Given the description of an element on the screen output the (x, y) to click on. 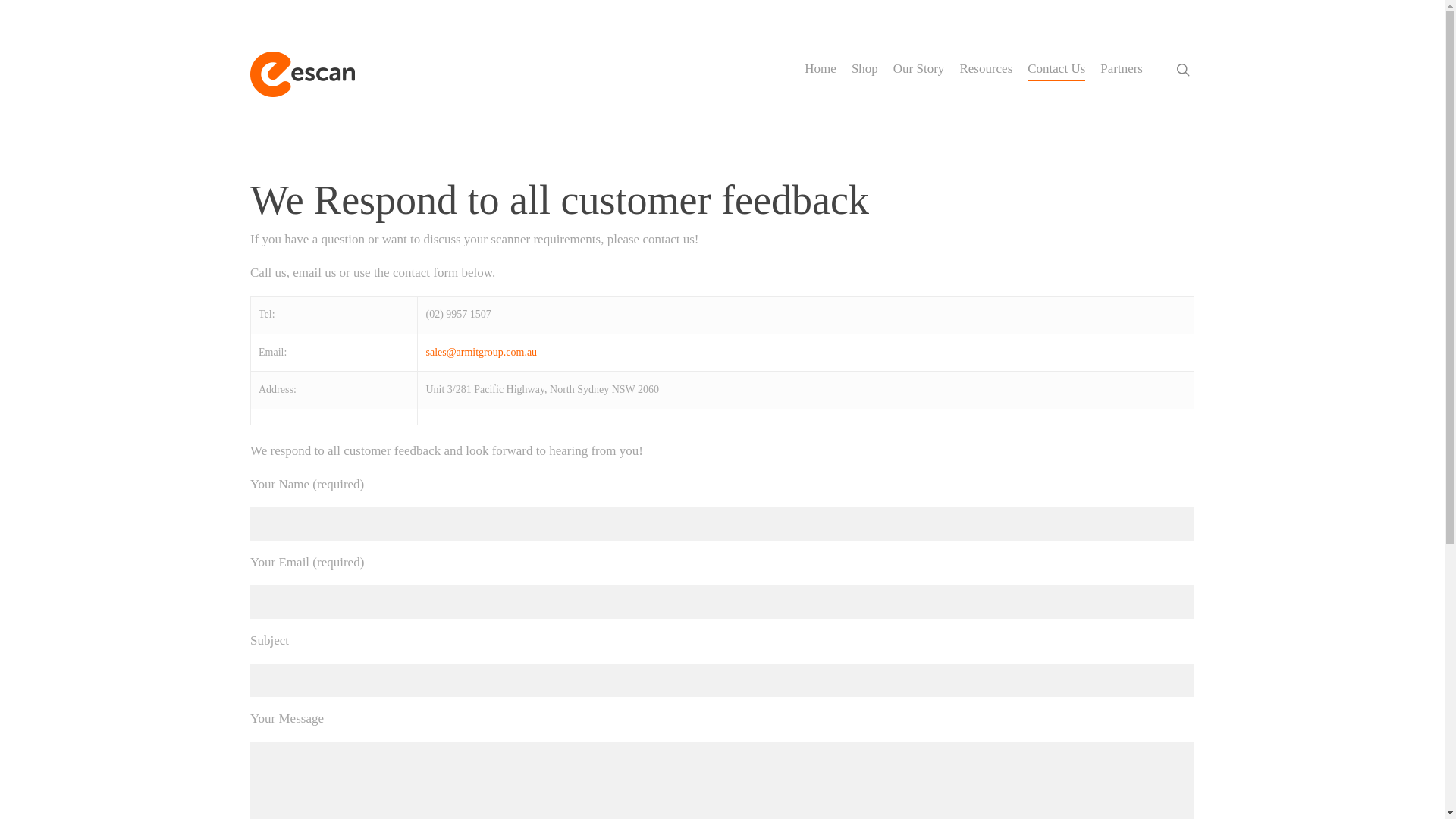
Partners Element type: text (1121, 67)
Shop Element type: text (864, 67)
Home Element type: text (820, 67)
sales@armitgroup.com.au Element type: text (480, 351)
Resources Element type: text (985, 67)
Contact Us Element type: text (1056, 67)
Our Story Element type: text (918, 67)
